Given the description of an element on the screen output the (x, y) to click on. 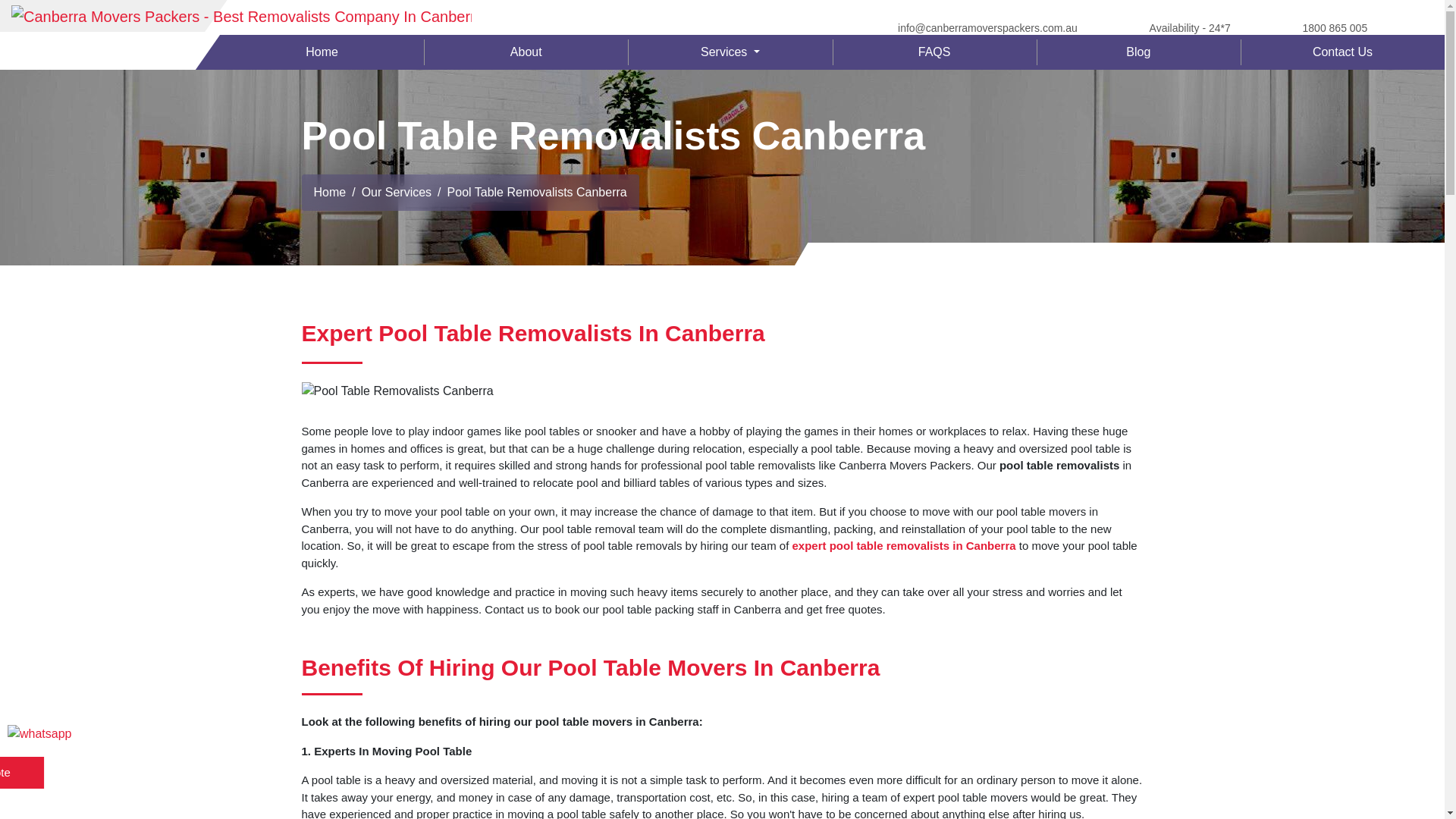
Services (729, 52)
About (525, 52)
Our Services (395, 192)
Blog (1138, 52)
Home (330, 192)
1800 865 005 (1335, 27)
About Canberra Movers Packers (525, 52)
Canberra Movers Packers Customer Care Phone Number (1335, 27)
expert pool table removalists in Canberra (903, 545)
